Given the description of an element on the screen output the (x, y) to click on. 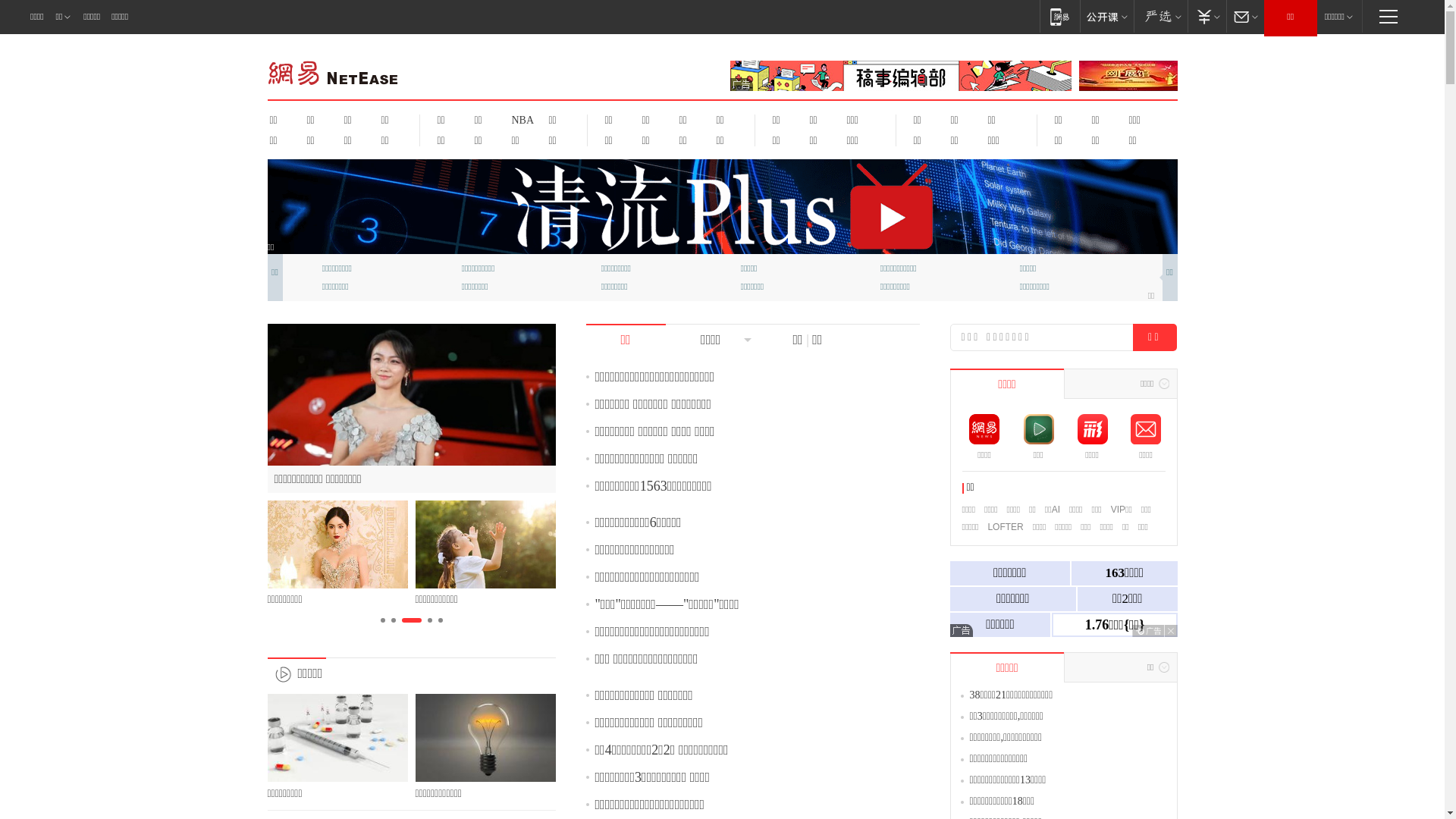
LOFTER Element type: text (1004, 526)
NBA Element type: text (520, 119)
